Given the description of an element on the screen output the (x, y) to click on. 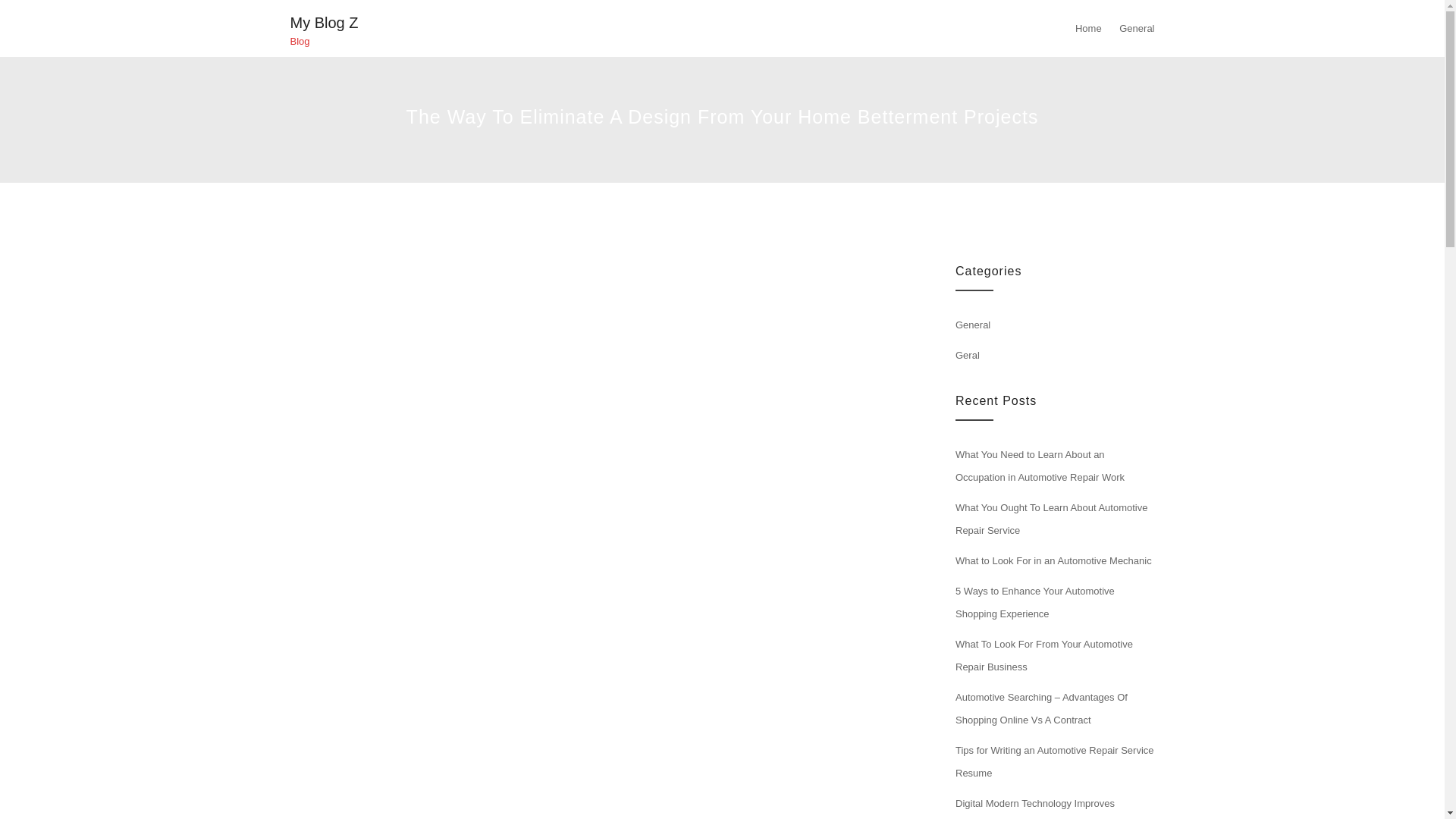
General (972, 324)
What to Look For in an Automotive Mechanic (1053, 560)
What To Look For From Your Automotive Repair Business (1043, 655)
My Blog Z (323, 22)
Tips for Writing an Automotive Repair Service Resume (1054, 761)
Geral (967, 355)
What You Ought To Learn About Automotive Repair Service (1051, 519)
Digital Modern Technology Improves Automotive Shopping (1035, 808)
5 Ways to Enhance Your Automotive Shopping Experience (1035, 602)
